Given the description of an element on the screen output the (x, y) to click on. 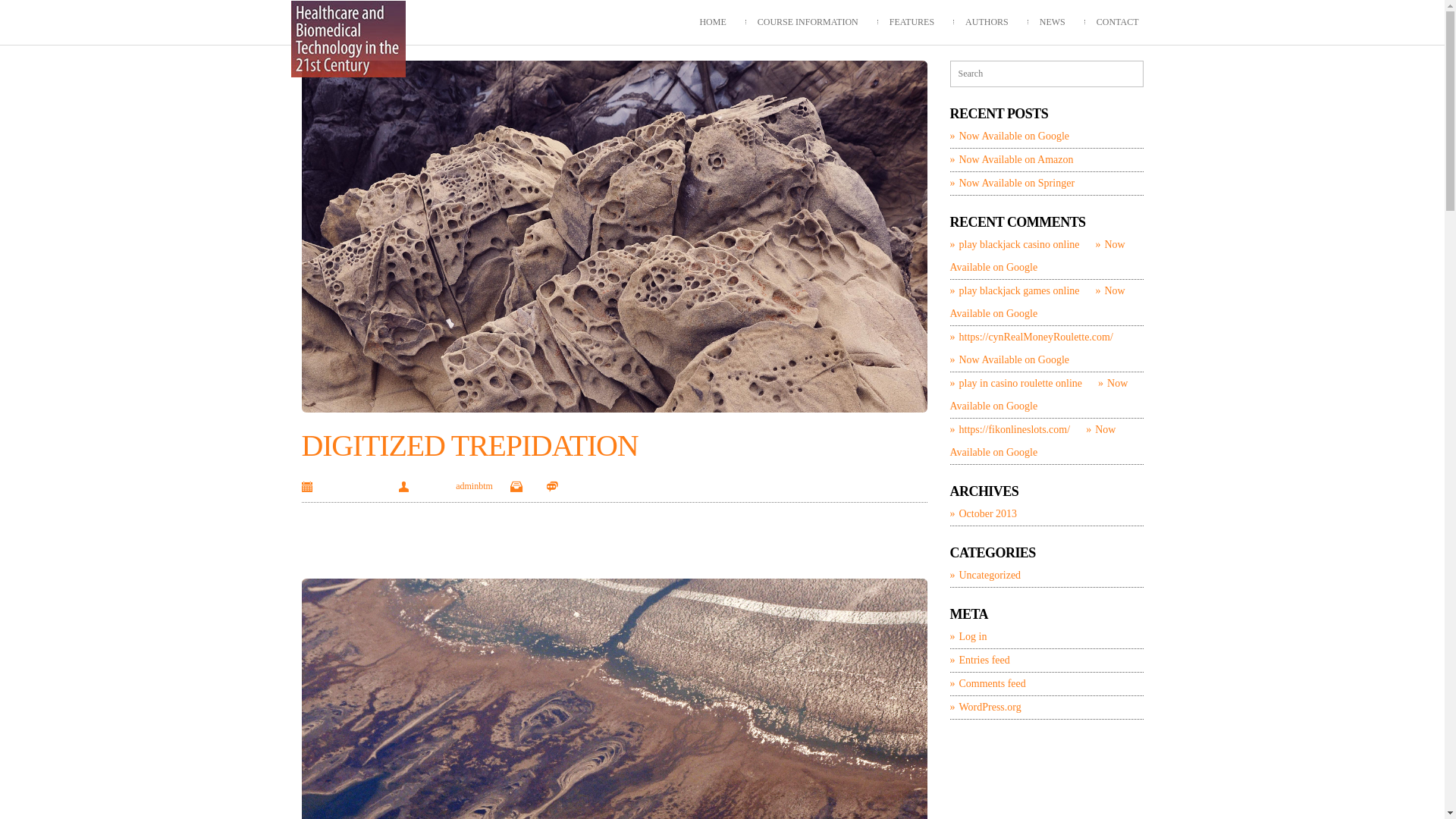
WordPress.org Element type: text (984, 707)
Log in Element type: text (967, 636)
Now Available on Google Element type: text (1032, 440)
Search Element type: text (15, 9)
play in casino roulette online Element type: text (1015, 383)
https://fikonlineslots.com/ Element type: text (1009, 429)
play blackjack casino online Element type: text (1014, 244)
https://cynRealMoneyRoulette.com/ Element type: text (1030, 336)
Now Available on Google Element type: text (1009, 136)
DIGITIZED TREPIDATION Element type: text (469, 445)
Now Available on Google Element type: text (1009, 359)
adminbtm Element type: text (473, 485)
play blackjack games online Element type: text (1014, 290)
Now Available on Google Element type: text (1036, 302)
Now Available on Google Element type: text (1038, 394)
Now Available on Amazon Element type: text (1011, 159)
October 2013 Element type: text (982, 513)
Comments feed Element type: text (987, 683)
Now Available on Springer Element type: text (1011, 183)
Uncategorized Element type: text (984, 575)
Entries feed Element type: text (979, 660)
Now Available on Google Element type: text (1036, 255)
